Given the description of an element on the screen output the (x, y) to click on. 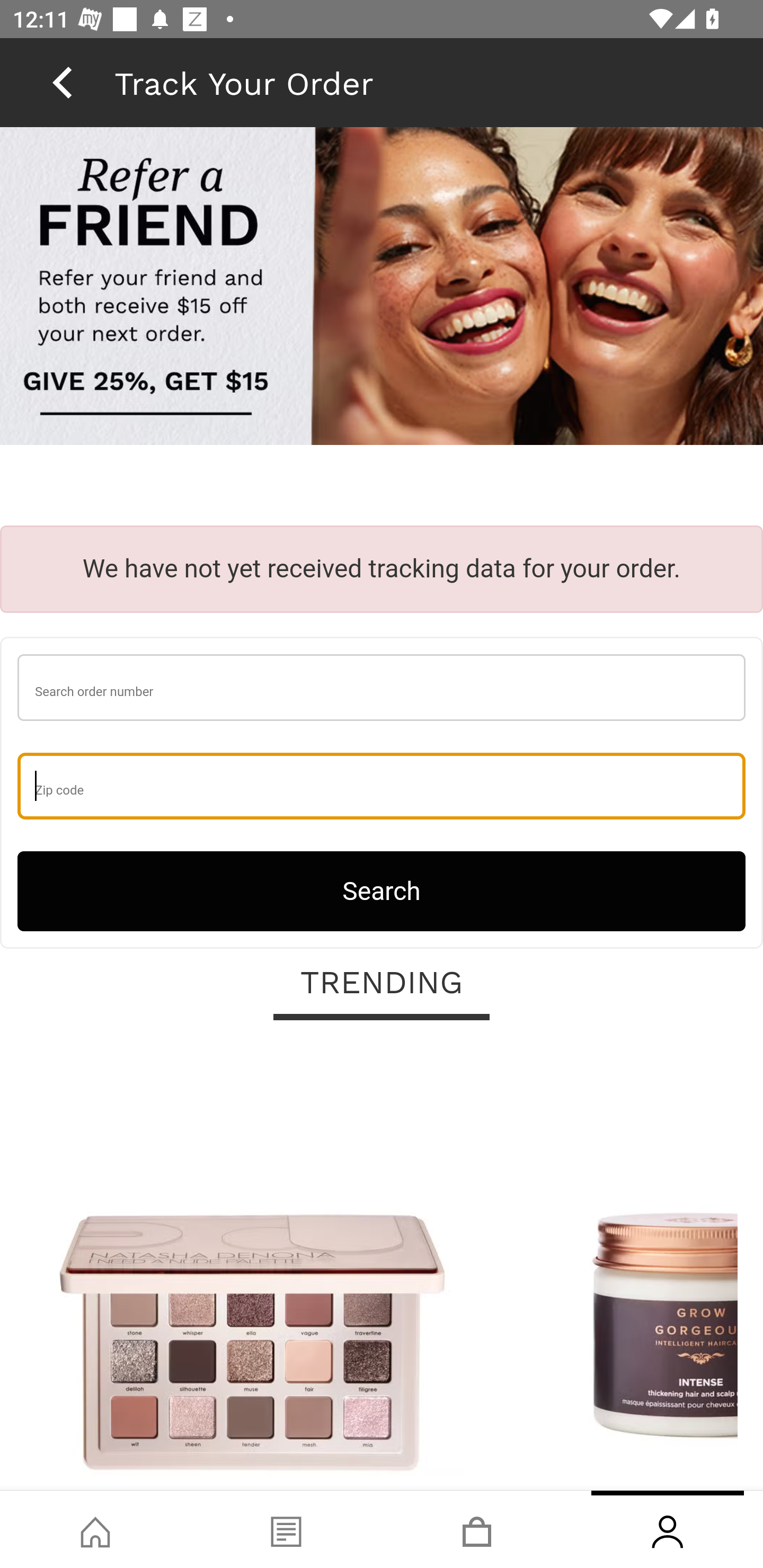
back (61, 82)
raf (381, 288)
Search (381, 890)
TRENDING (381, 983)
Natasha Denona I Need A Nude Palette (252, 1266)
Shop, tab, 1 of 4 (95, 1529)
Blog, tab, 2 of 4 (285, 1529)
Basket, tab, 3 of 4 (476, 1529)
Account, tab, 4 of 4 (667, 1529)
